Given the description of an element on the screen output the (x, y) to click on. 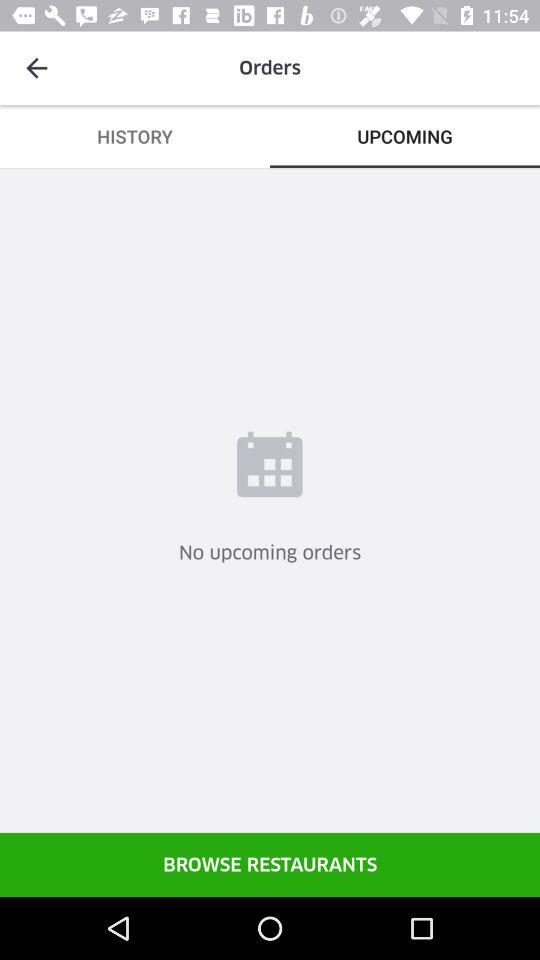
click the item below no upcoming orders (270, 864)
